Given the description of an element on the screen output the (x, y) to click on. 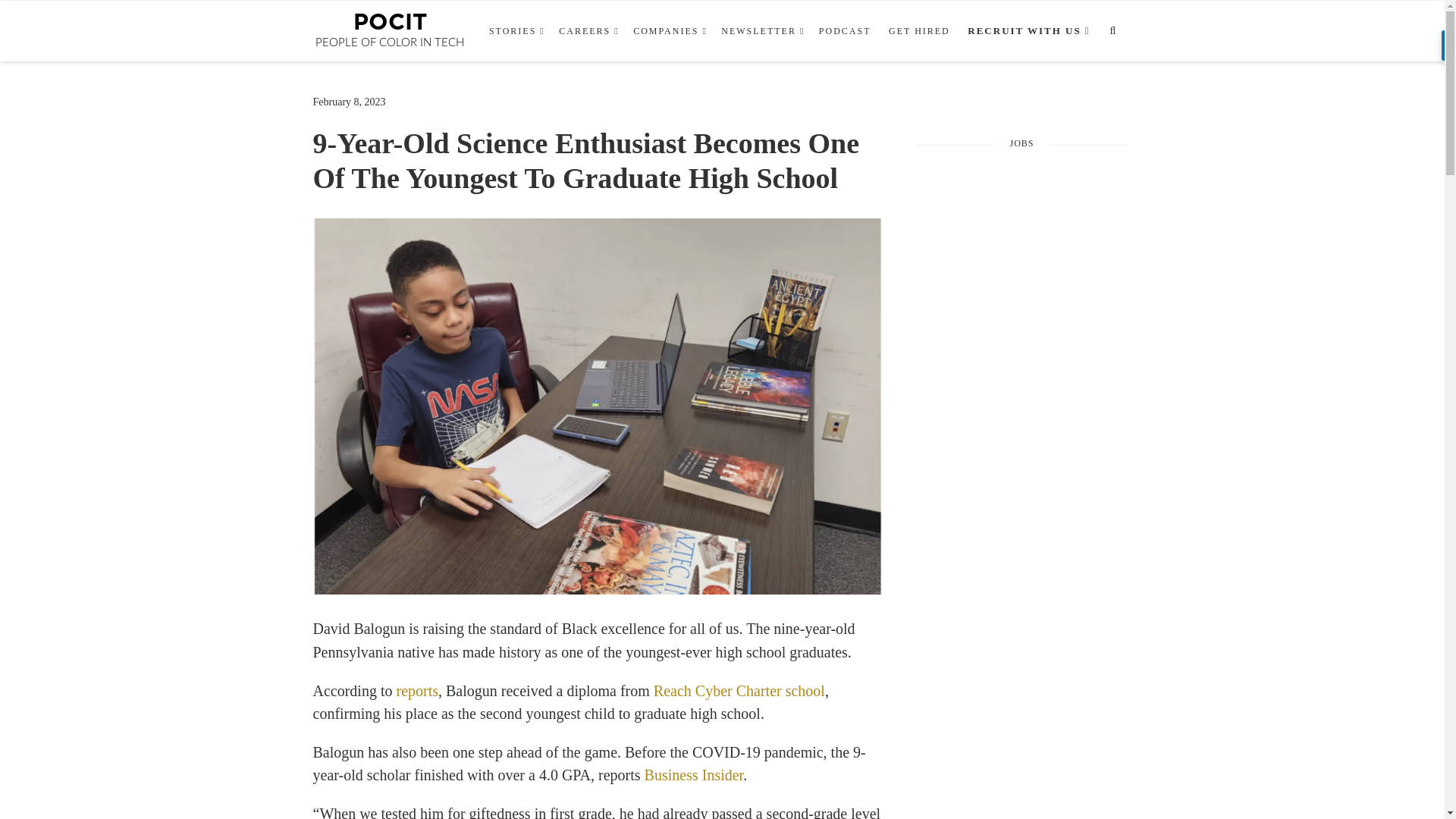
get-hired (919, 30)
partner (1026, 30)
